Given the description of an element on the screen output the (x, y) to click on. 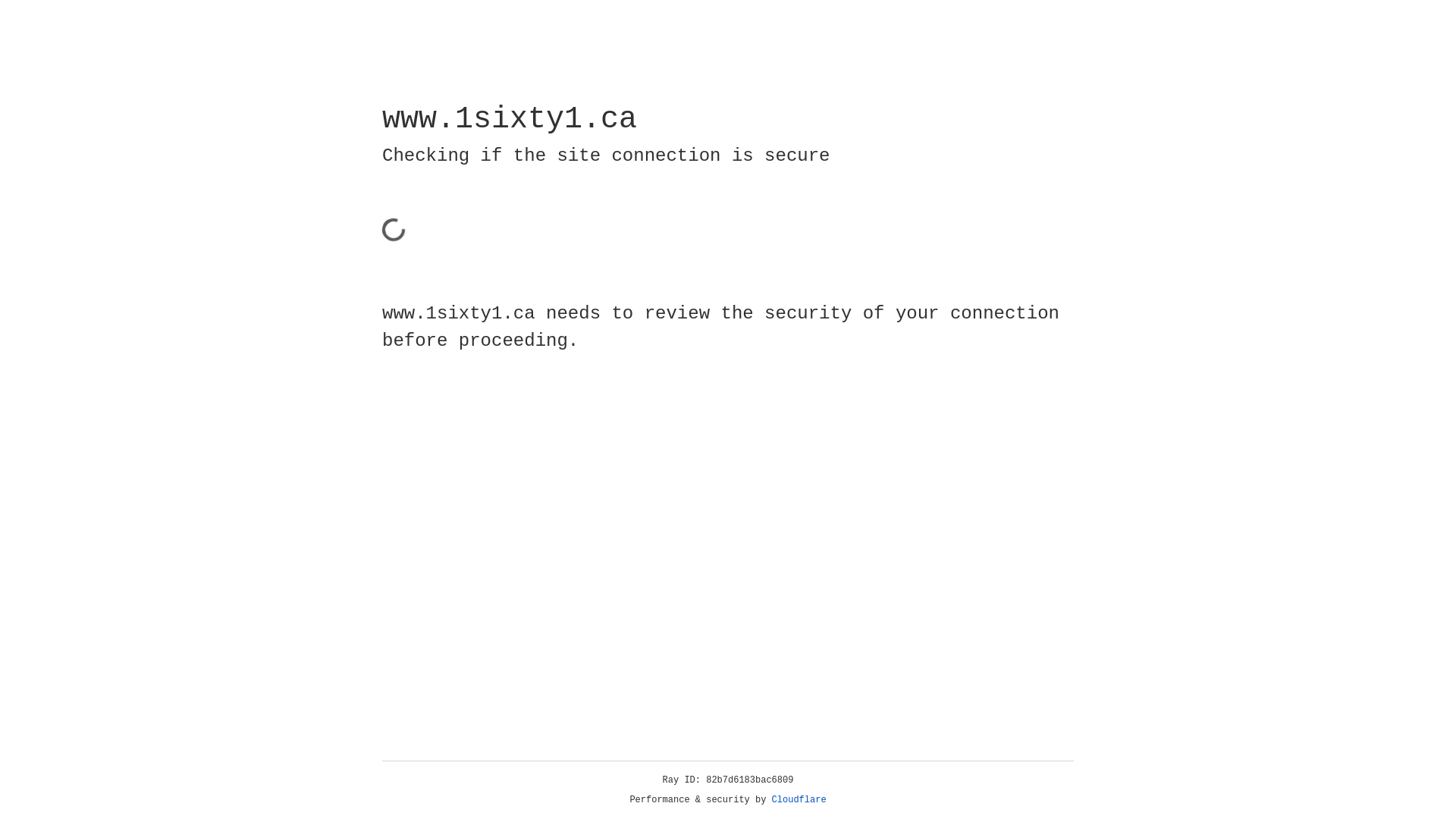
Cloudflare Element type: text (798, 799)
